Given the description of an element on the screen output the (x, y) to click on. 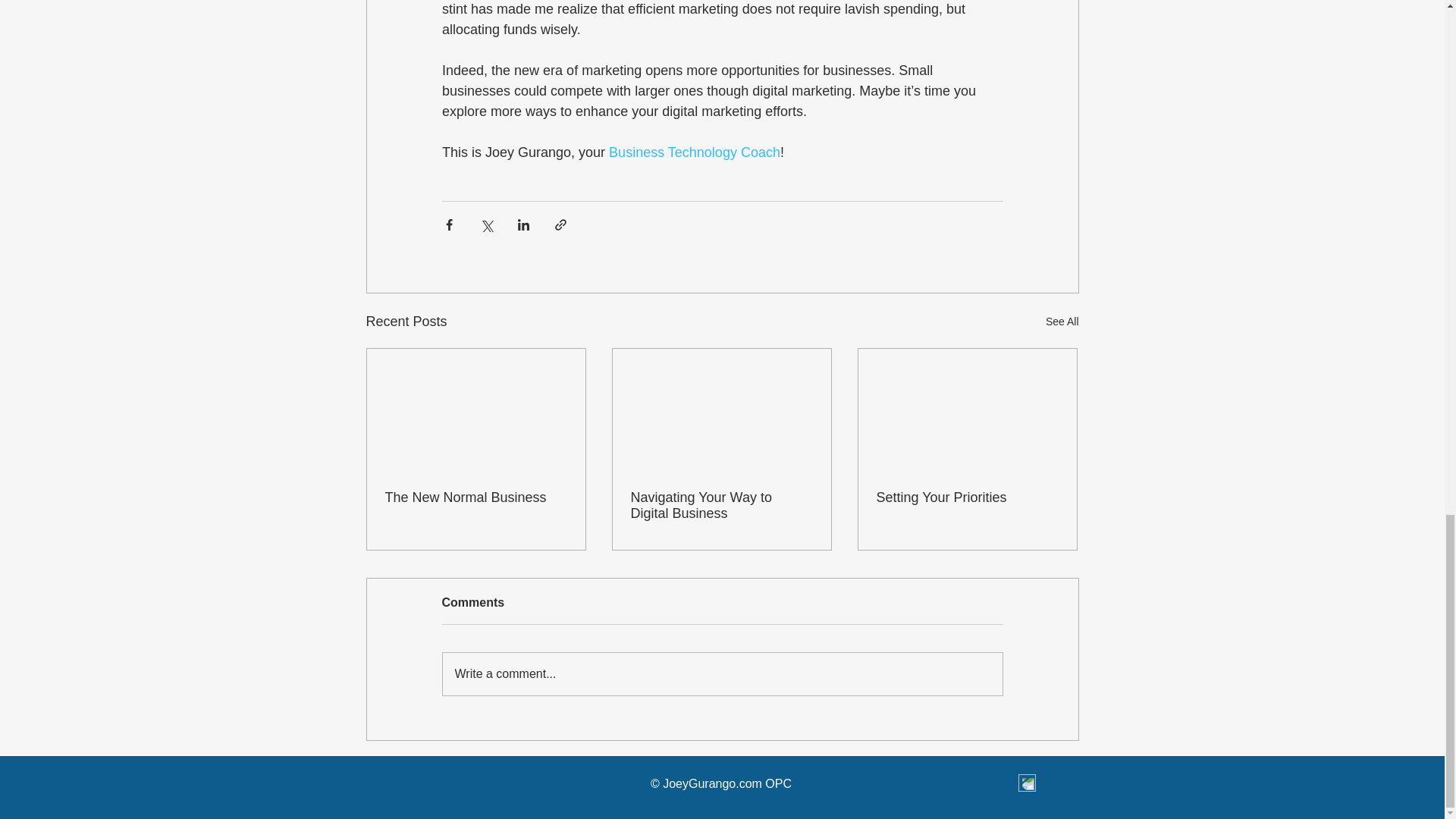
Setting Your Priorities (967, 497)
Write a comment... (722, 673)
The New Normal Business (476, 497)
Navigating Your Way to Digital Business (721, 505)
Business Technology Coach (694, 151)
See All (1061, 321)
